Given the description of an element on the screen output the (x, y) to click on. 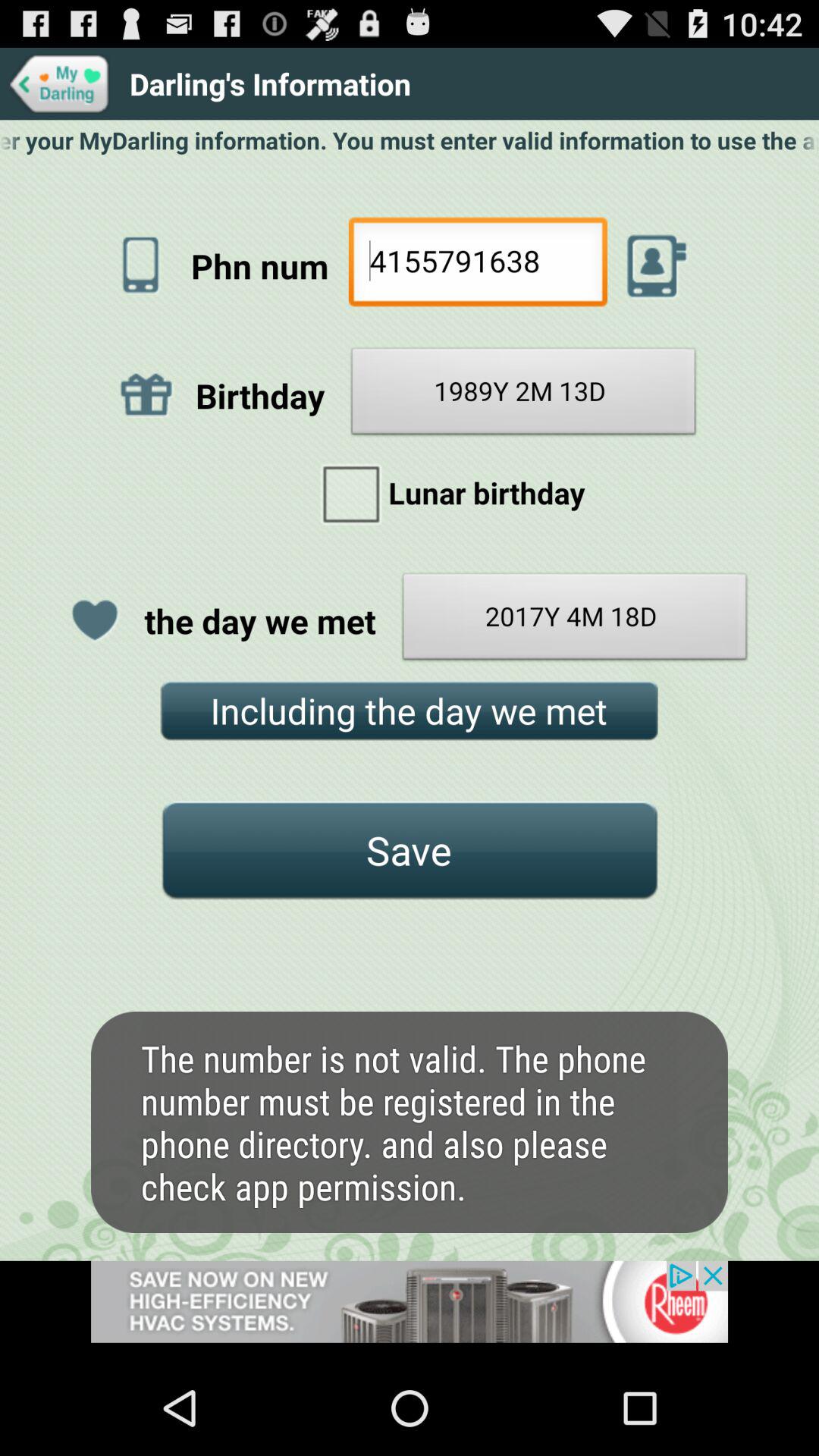
enter the contact list (656, 265)
